Given the description of an element on the screen output the (x, y) to click on. 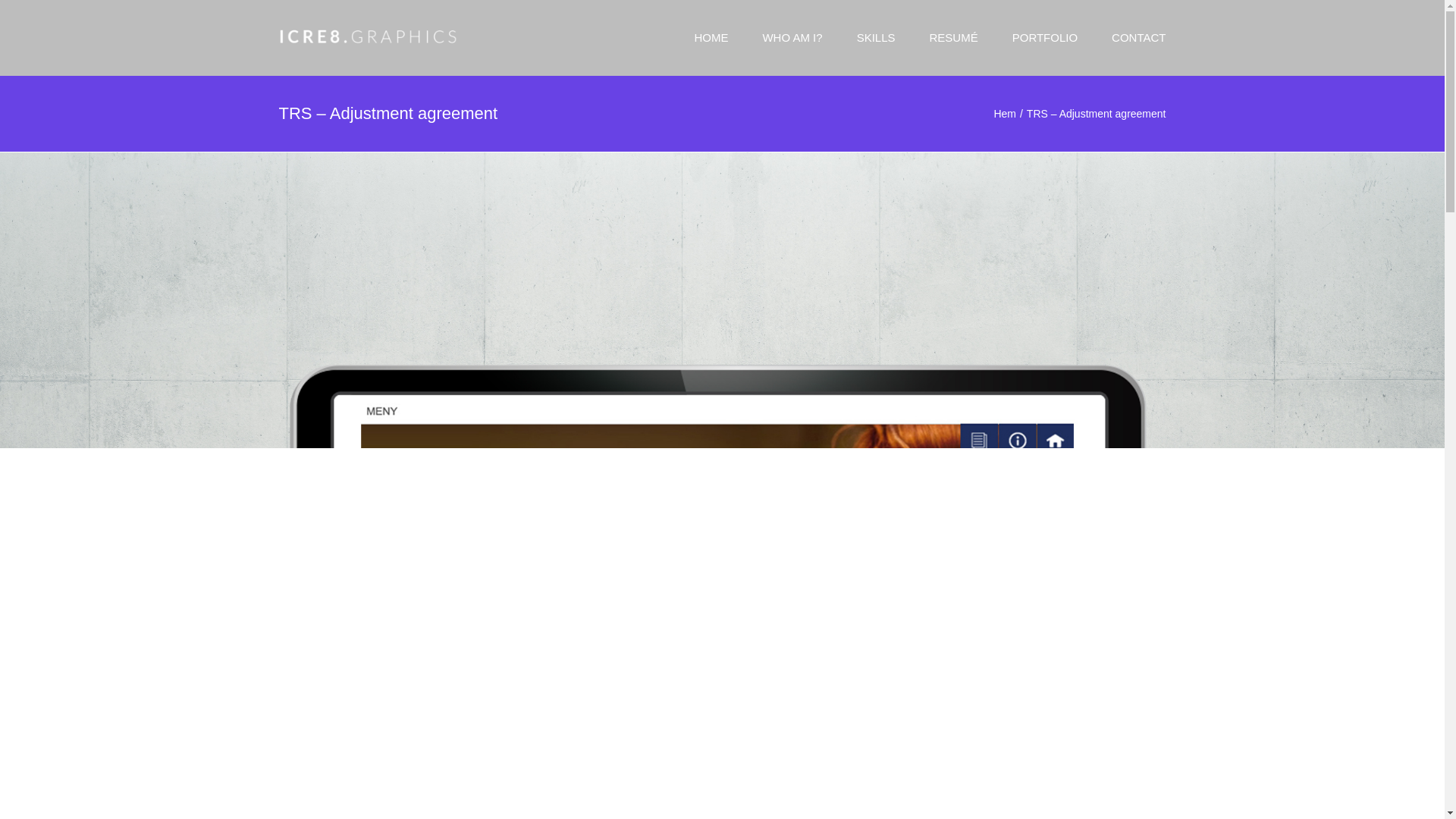
WHO AM I? (791, 37)
CONTACT (1139, 37)
PORTFOLIO (1044, 37)
Hem (1004, 113)
